Given the description of an element on the screen output the (x, y) to click on. 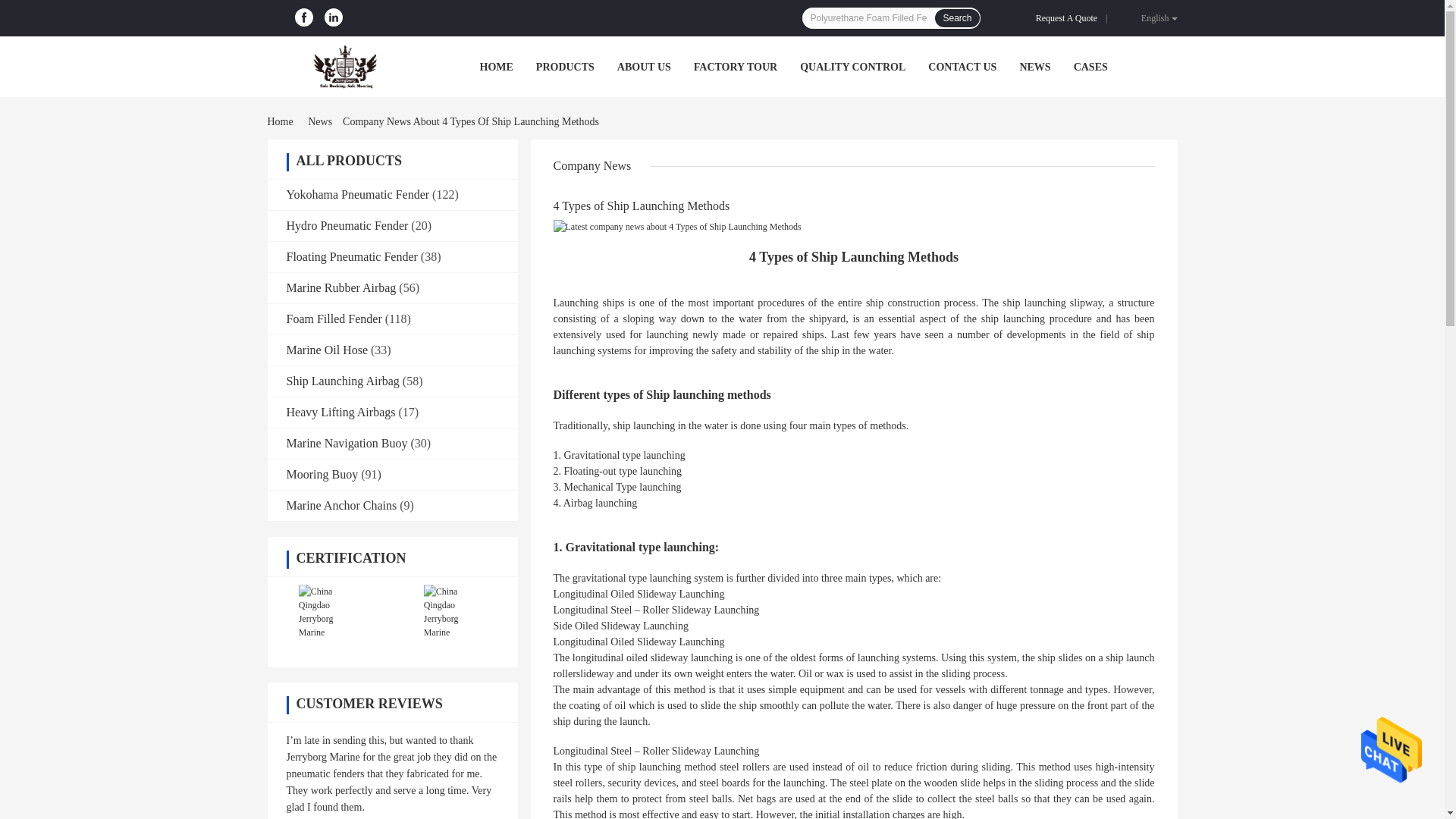
PRODUCTS (564, 66)
News (319, 121)
Qingdao Jerryborg Marine Machinery Co., Ltd LinkedIn (333, 17)
ABOUT US (644, 66)
FACTORY TOUR (735, 66)
Home (282, 121)
QUALITY CONTROL (852, 66)
Request A Quote (1069, 18)
Qingdao Jerryborg Marine Machinery Co., Ltd Facebook (303, 17)
Floating Pneumatic Fender (351, 256)
